Given the description of an element on the screen output the (x, y) to click on. 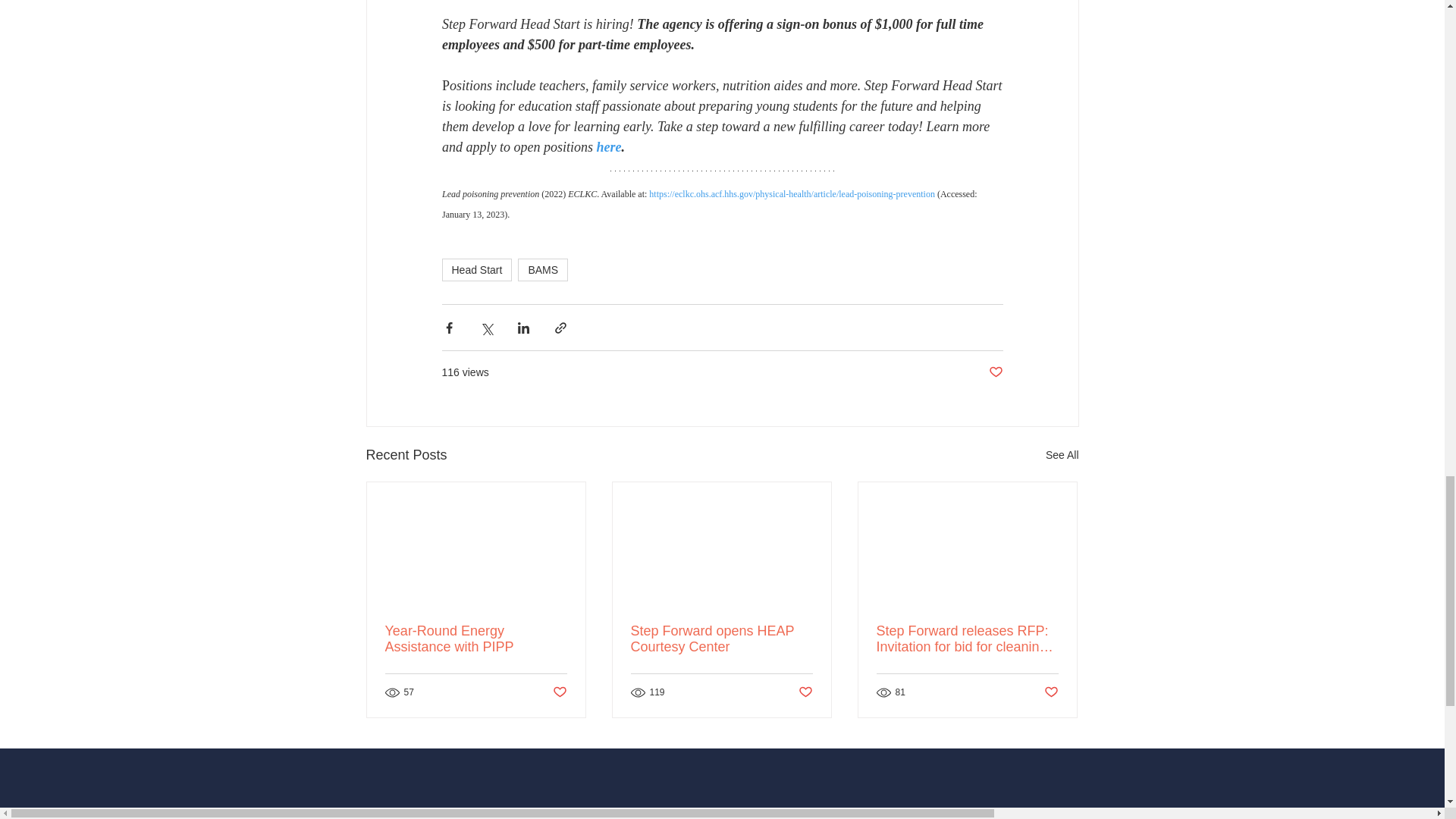
Step Forward Logo (721, 816)
here (608, 146)
Head Start (476, 269)
